Given the description of an element on the screen output the (x, y) to click on. 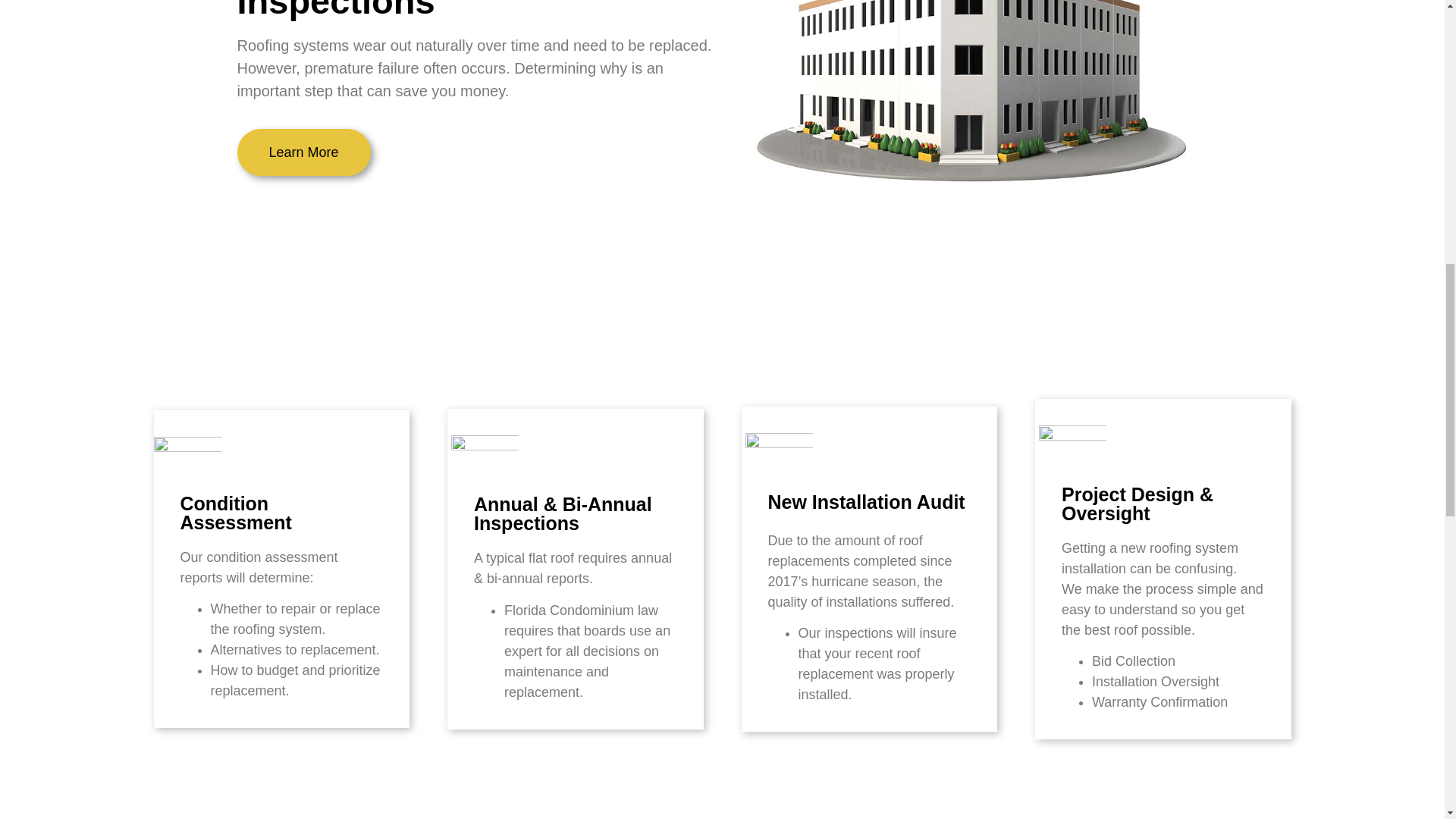
Learn More (302, 152)
